Given the description of an element on the screen output the (x, y) to click on. 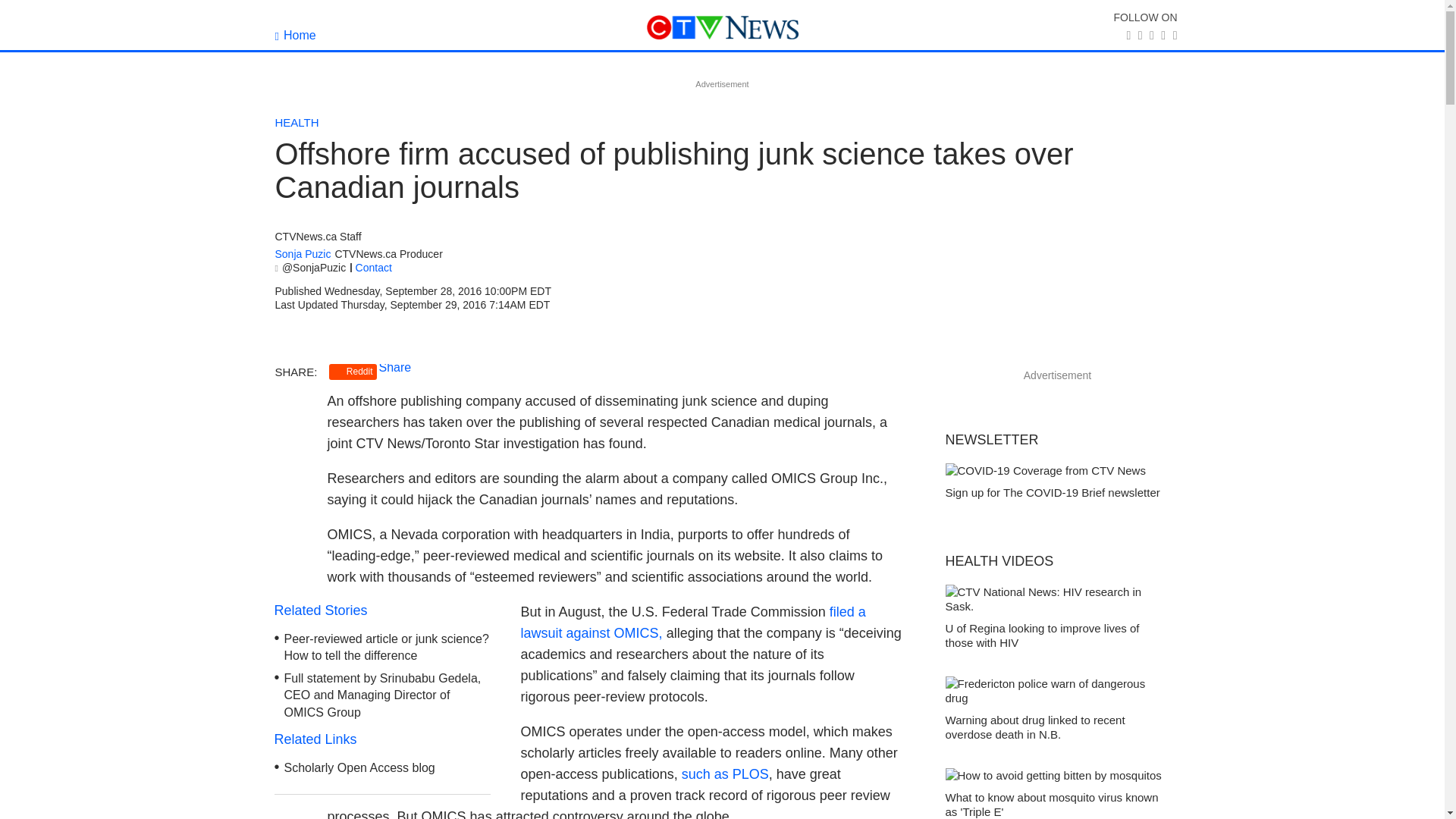
Scholarly Open Access blog (359, 767)
Reddit (353, 371)
such as PLOS (724, 774)
Sonja Puzic (302, 254)
Home (295, 34)
HEALTH (296, 122)
Contact (373, 267)
filed a lawsuit against OMICS, (693, 622)
